Given the description of an element on the screen output the (x, y) to click on. 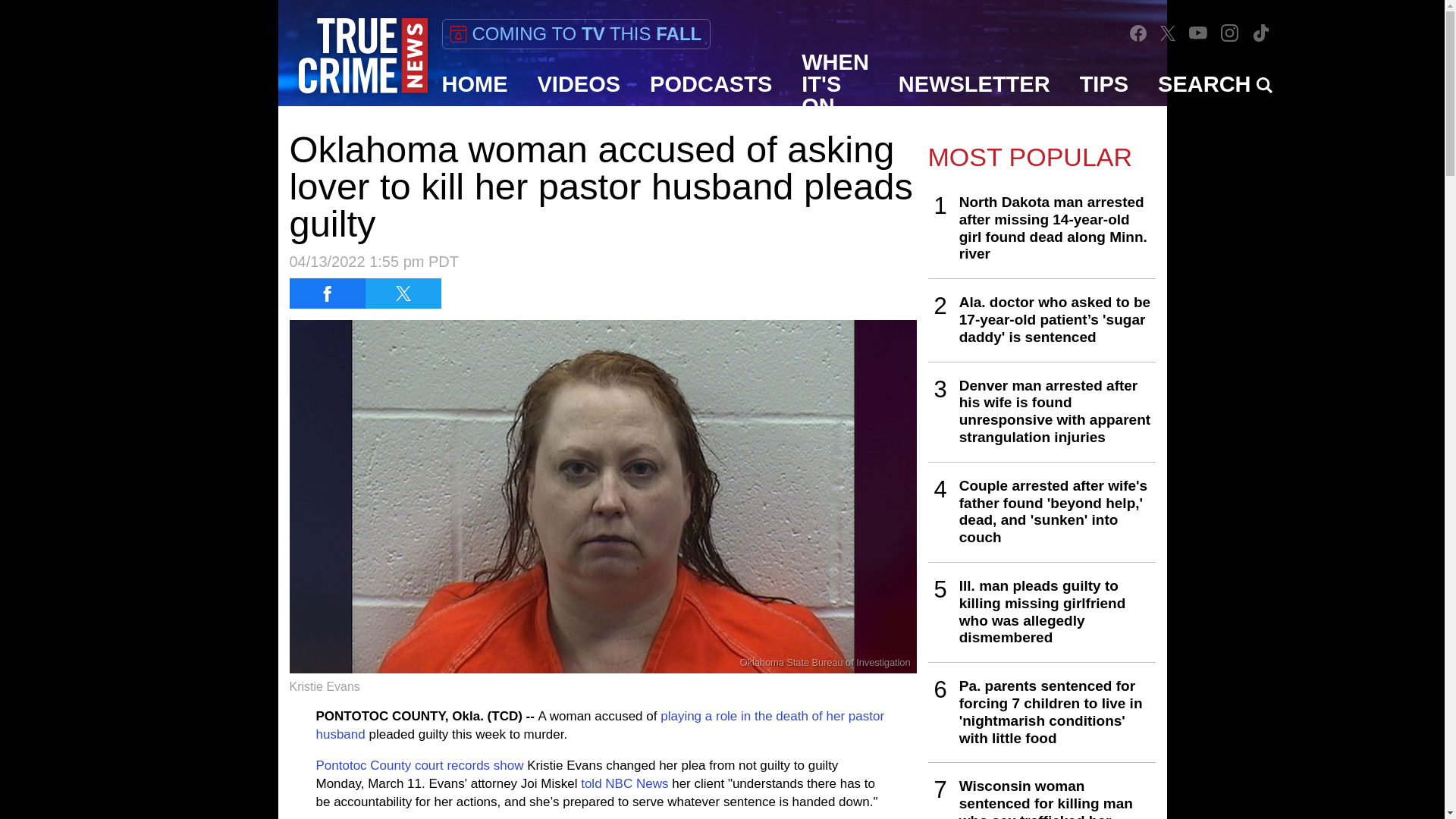
Twitter (1167, 32)
YouTube (1198, 32)
Facebook (1138, 32)
3rd party ad content (721, 785)
Instagram (1230, 32)
COMING TO TV THIS FALL (575, 33)
HOME (475, 84)
Instagram (1229, 32)
NEWSLETTER (974, 84)
Twitter (1167, 32)
